Given the description of an element on the screen output the (x, y) to click on. 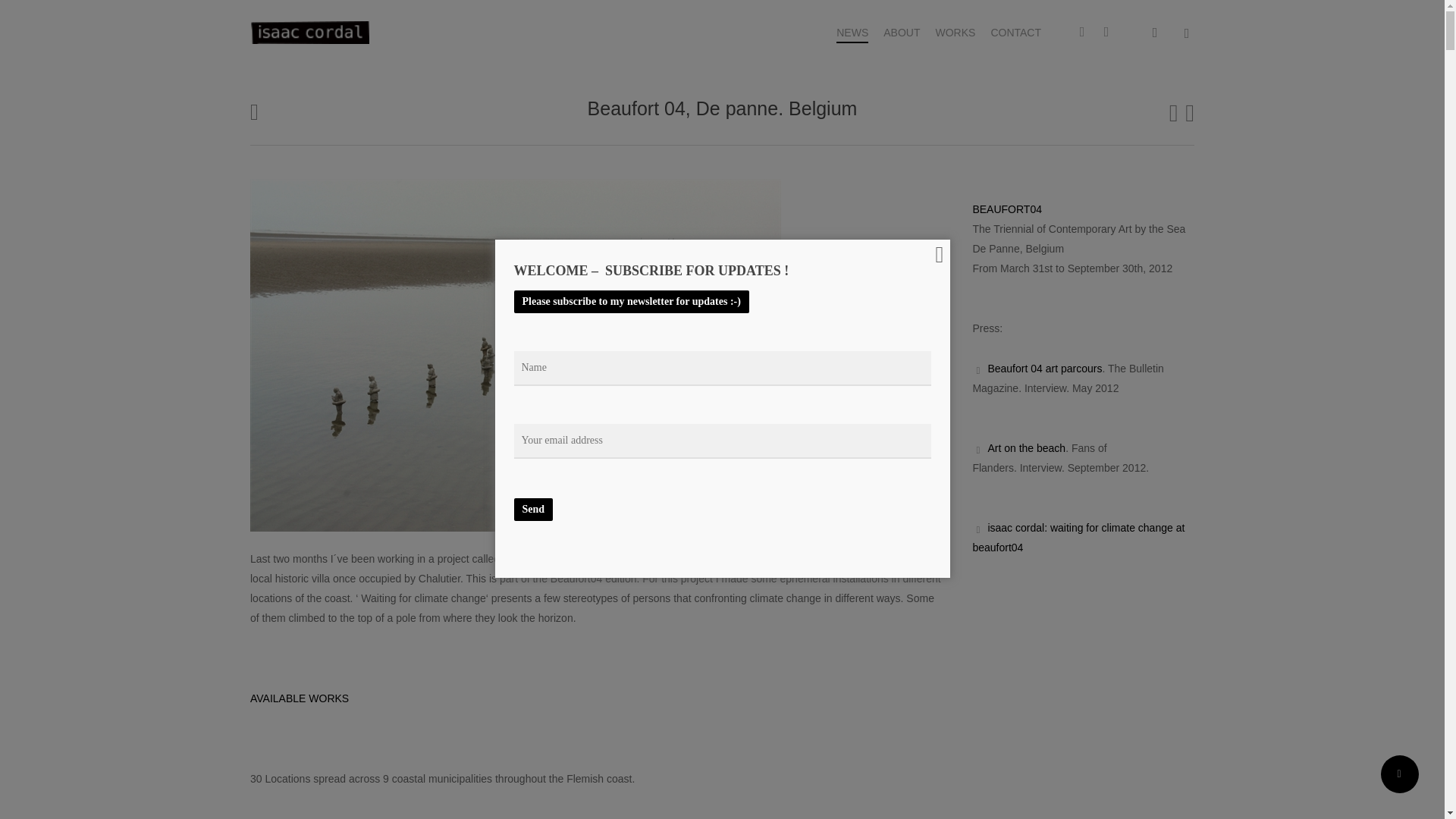
ABOUT (901, 32)
Instagram (1106, 32)
Back to all projects (254, 111)
AVAILABLE WORKS (299, 698)
isaac cordal: waiting for climate change at beaufort04 (1078, 537)
WORKS (954, 32)
CONTACT (1015, 32)
Beaufort 04 art parcours (1044, 368)
Facebook (1082, 32)
BEAUFORT04 (1007, 209)
Send (533, 508)
NEWS (851, 32)
Art on the beach (1026, 448)
search (1154, 32)
